Given the description of an element on the screen output the (x, y) to click on. 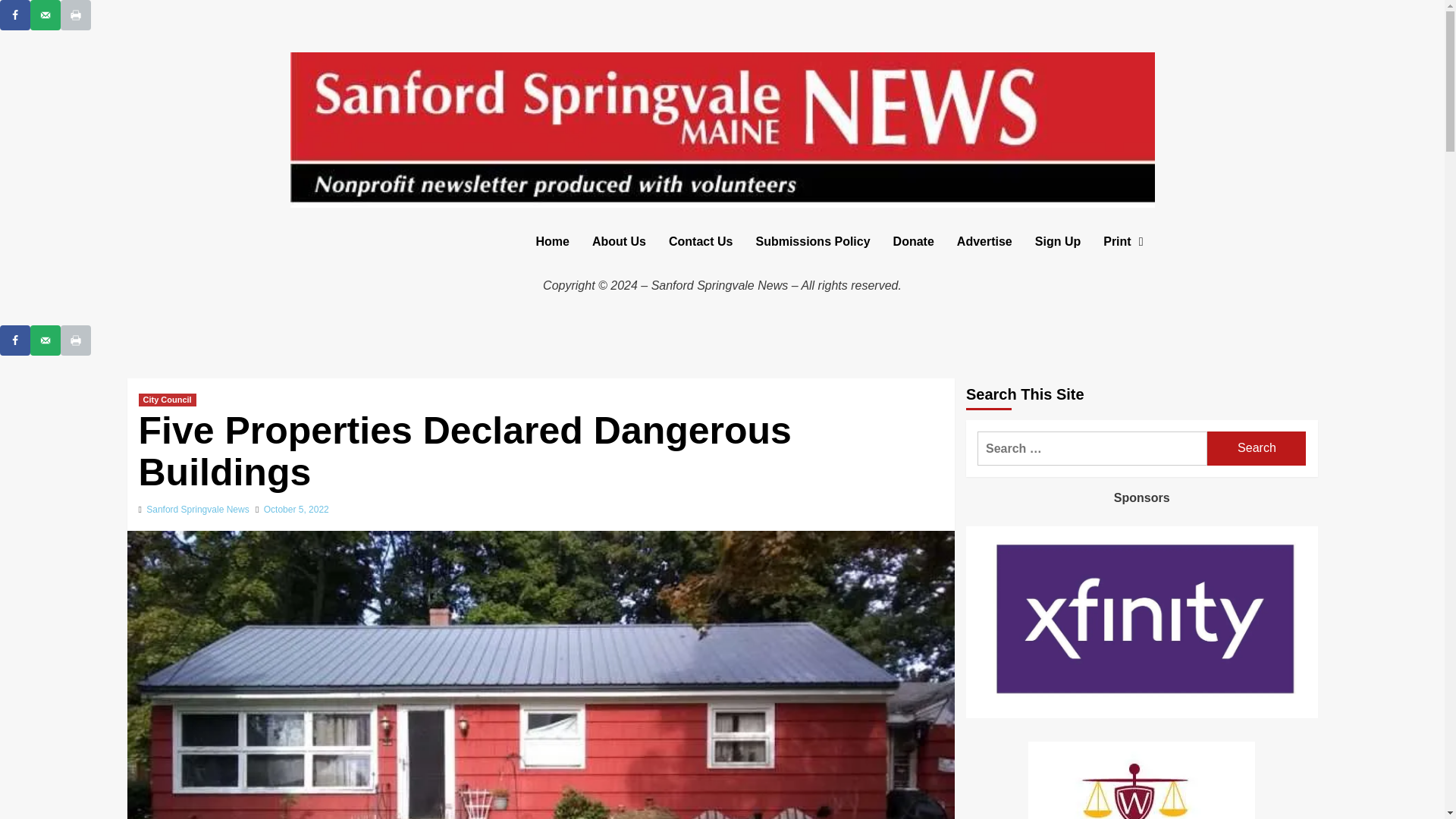
Search (1256, 448)
Share on Facebook (15, 340)
Donate (913, 241)
Submissions Policy (812, 241)
Share on Facebook (15, 15)
City Council (166, 399)
Advertise (983, 241)
Print (1123, 241)
Print this webpage (75, 340)
About Us (619, 241)
October 5, 2022 (296, 509)
Home (551, 241)
Print this webpage (75, 15)
Sign Up (1057, 241)
Send over email (45, 340)
